Given the description of an element on the screen output the (x, y) to click on. 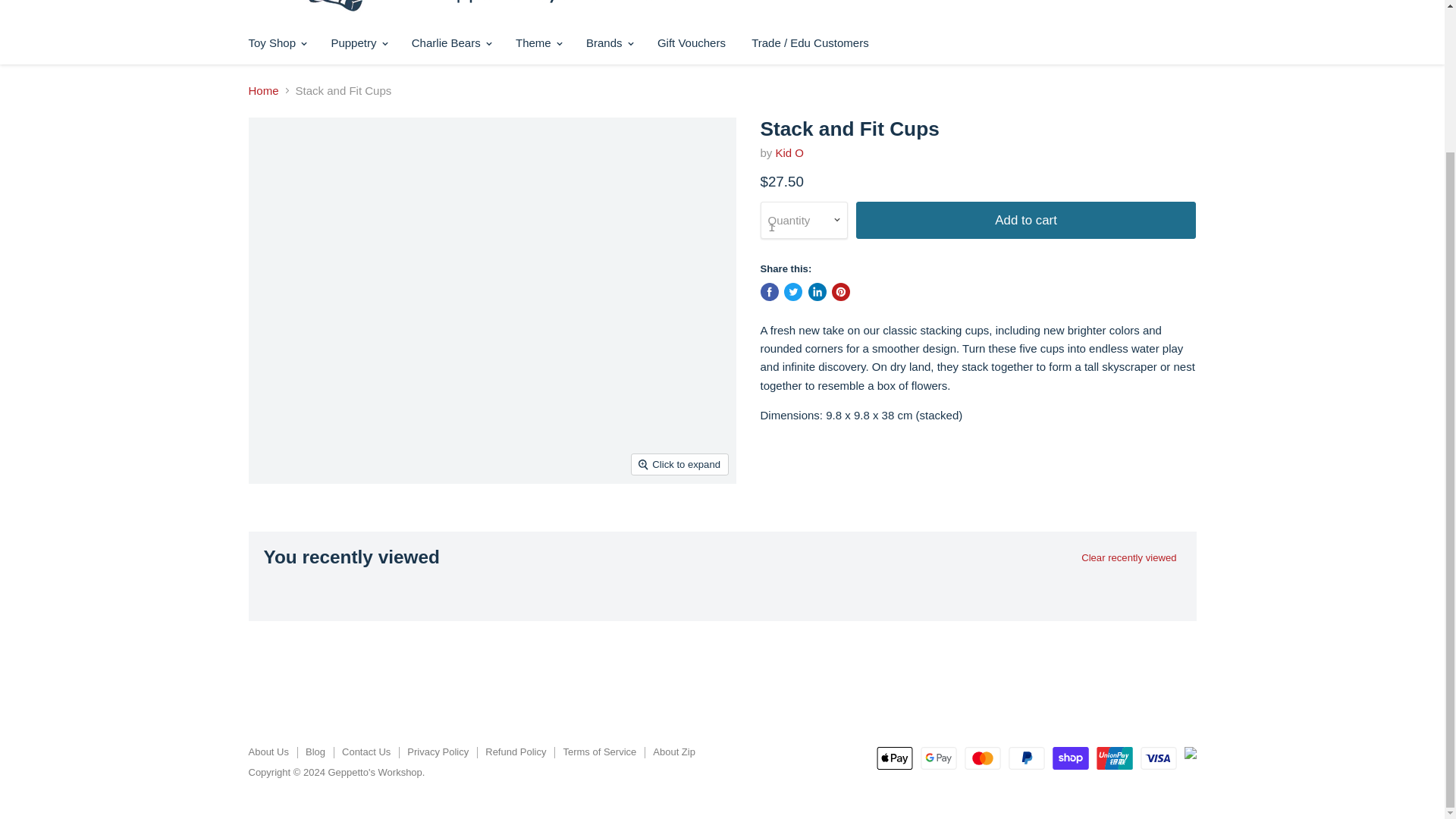
PayPal (1027, 757)
Mastercard (982, 757)
Apple Pay (894, 757)
Kid O (790, 152)
Toy Shop (275, 42)
Shop Pay (1070, 757)
Google Pay (938, 757)
